Given the description of an element on the screen output the (x, y) to click on. 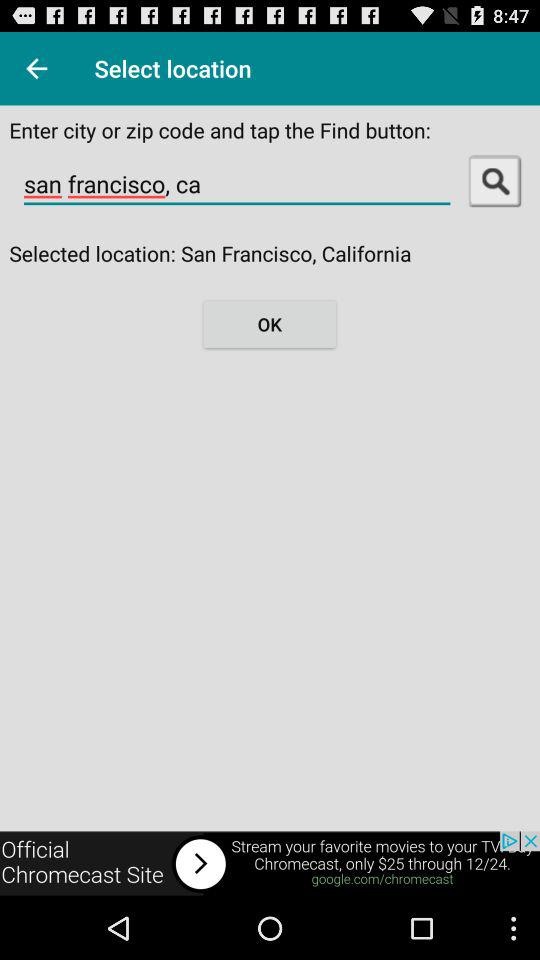
open advetisement (270, 864)
